Given the description of an element on the screen output the (x, y) to click on. 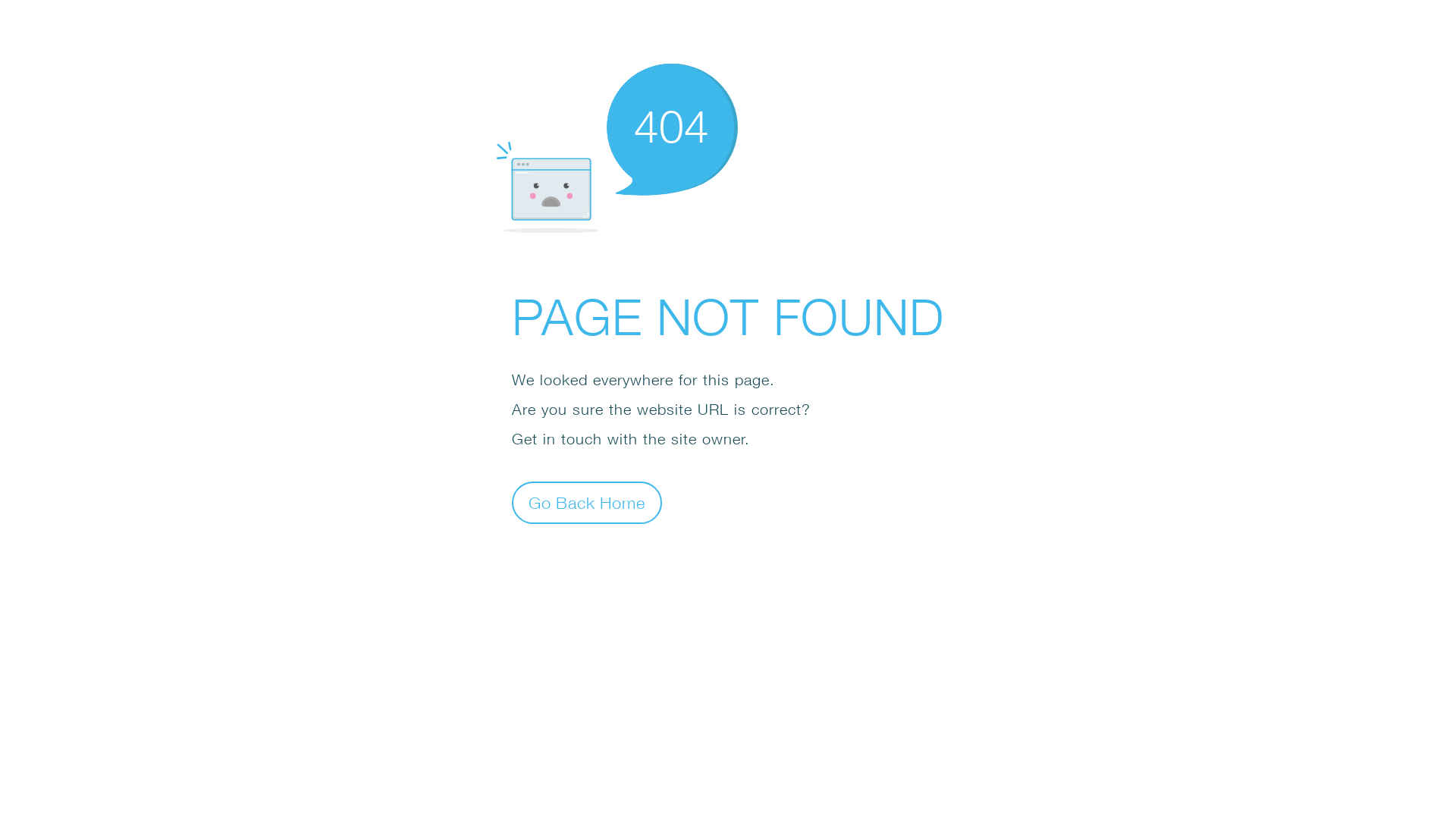
Go Back Home Element type: text (586, 502)
